Given the description of an element on the screen output the (x, y) to click on. 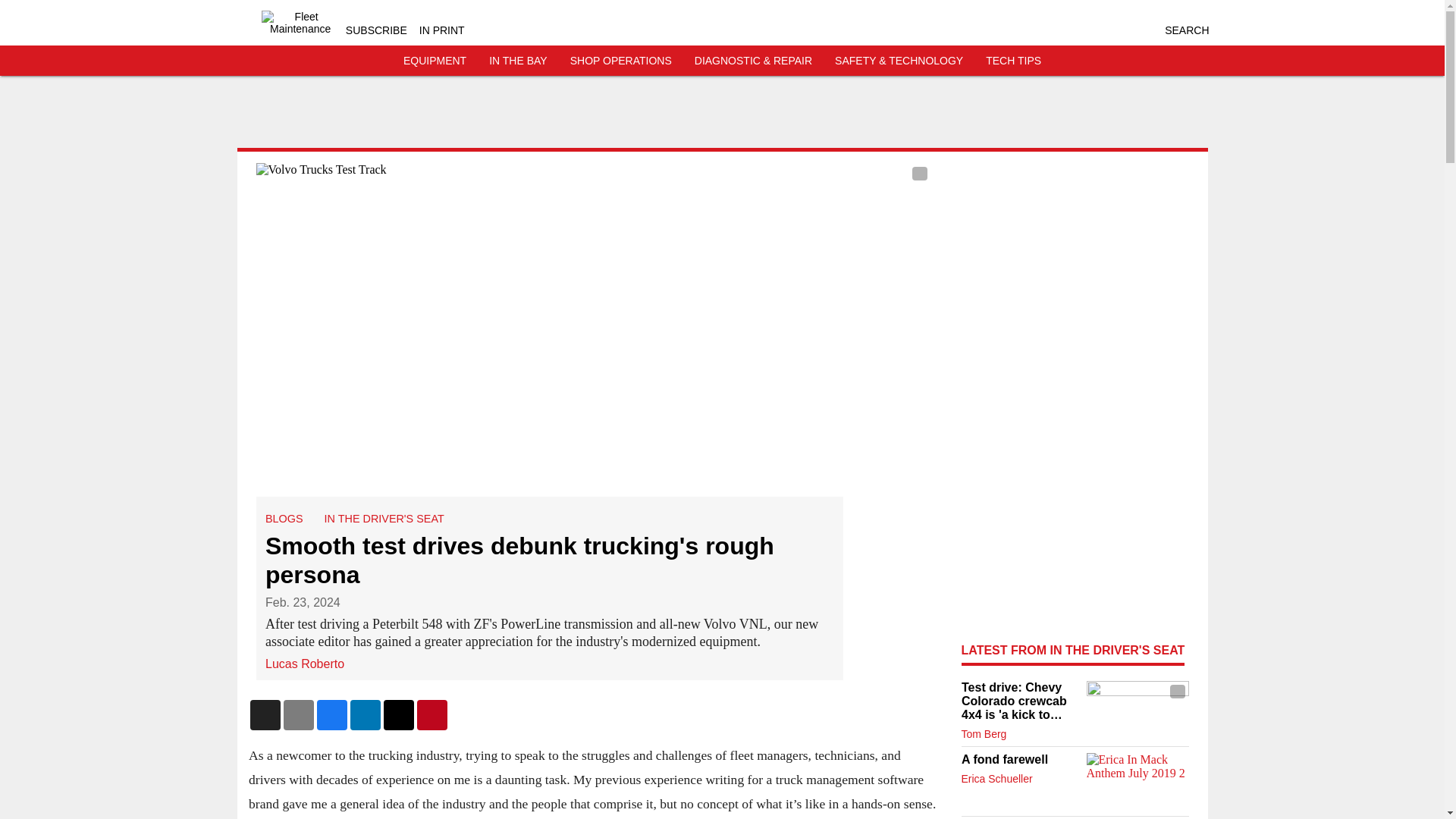
BLOGS (283, 518)
SEARCH (1186, 30)
IN THE DRIVER'S SEAT (383, 518)
IN PRINT (441, 30)
SHOP OPERATIONS (620, 60)
Tom Berg (983, 734)
SUBSCRIBE (376, 30)
LATEST FROM IN THE DRIVER'S SEAT (1072, 649)
Test drive: Chevy Colorado crewcab 4x4 is 'a kick to drive' (1019, 700)
TECH TIPS (1013, 60)
